Given the description of an element on the screen output the (x, y) to click on. 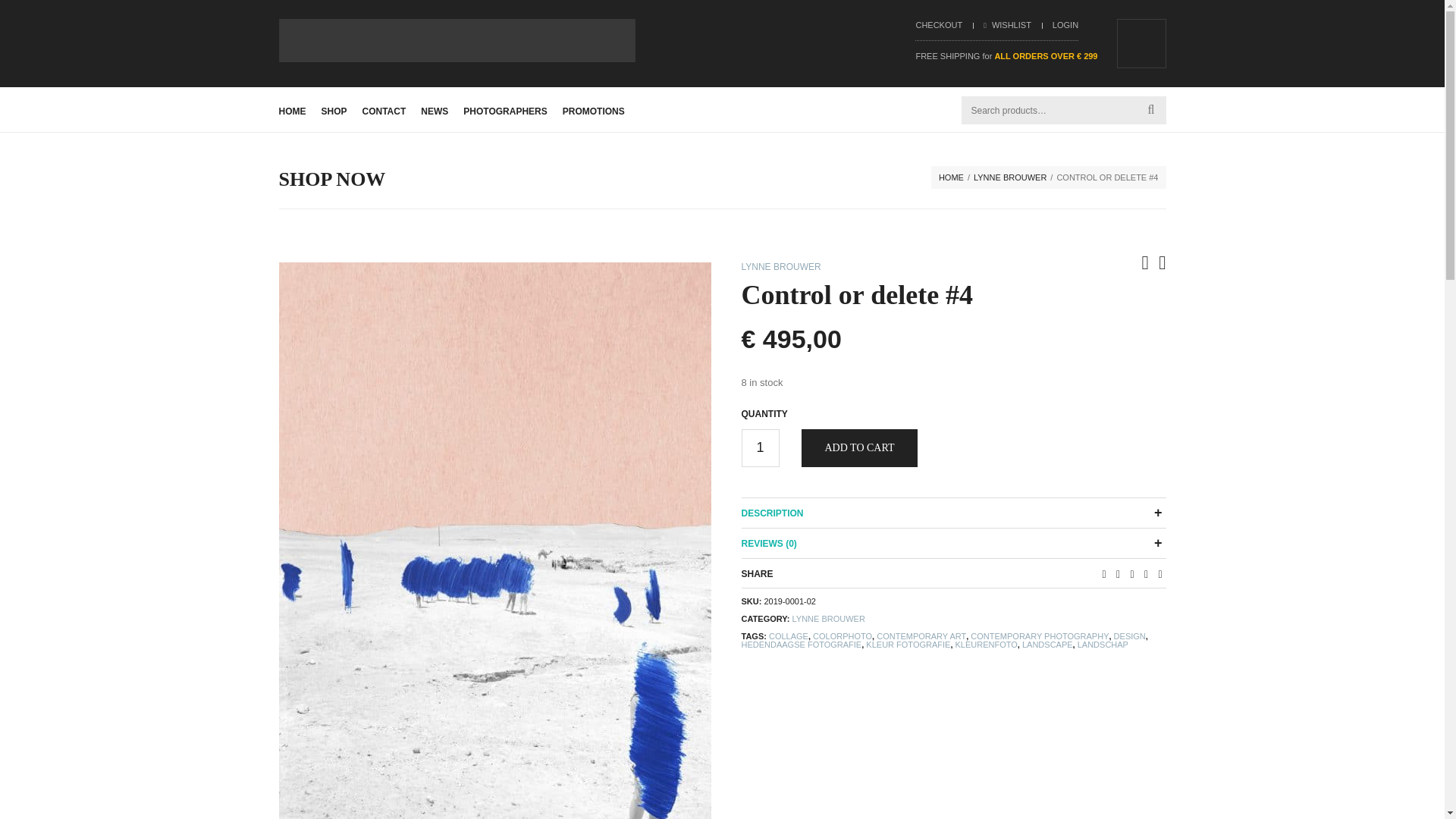
1 (759, 447)
WISHLIST (1007, 24)
HOME (292, 111)
LOGIN (1065, 24)
LYNNE BROUWER (1010, 177)
LYNNE BROUWER (781, 266)
CONTACT (384, 111)
Search (21, 7)
HOME (951, 177)
CHECKOUT (938, 24)
PROMOTIONS (593, 111)
ADD TO CART (858, 447)
Wishlist (1007, 24)
PHOTOGRAPHERS (505, 111)
NEWS (434, 111)
